Given the description of an element on the screen output the (x, y) to click on. 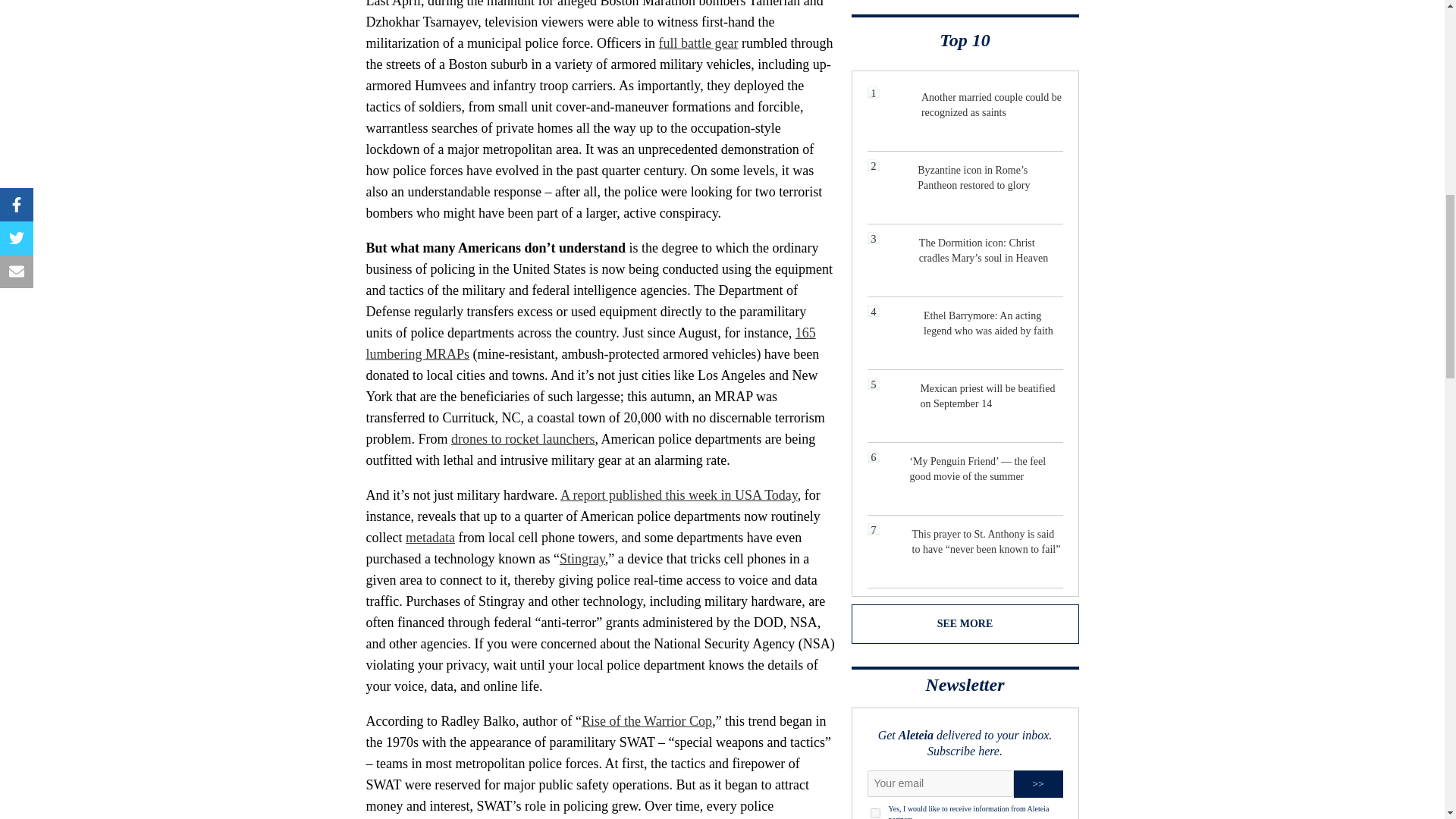
1 (875, 813)
165 lumbering MRAPs (590, 343)
full battle gear (698, 43)
